Given the description of an element on the screen output the (x, y) to click on. 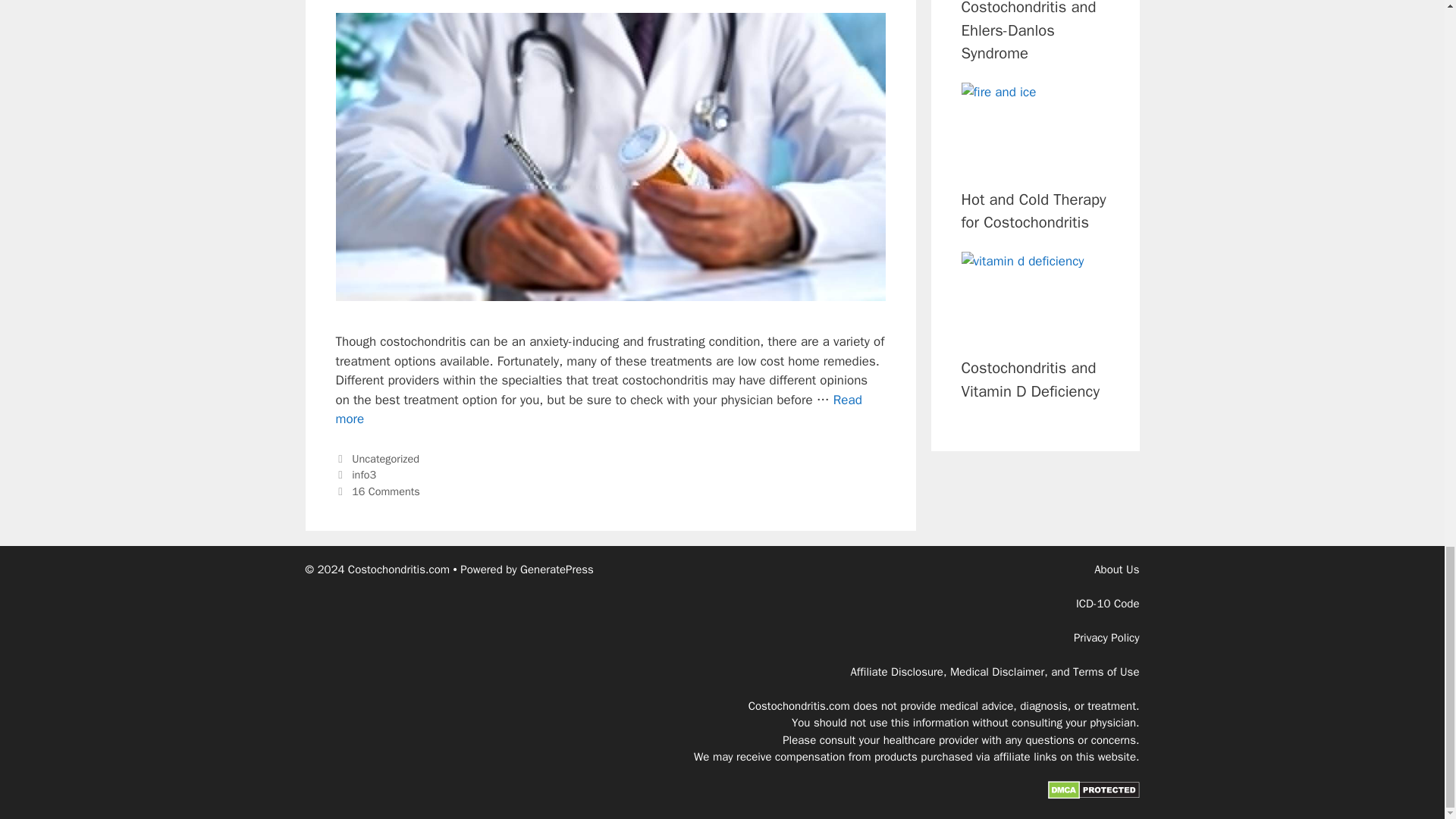
16 Comments (597, 409)
info3 (386, 490)
DMCA.com Protection Status (363, 474)
Uncategorized (1094, 795)
Costochondritis Treatments (385, 459)
